Given the description of an element on the screen output the (x, y) to click on. 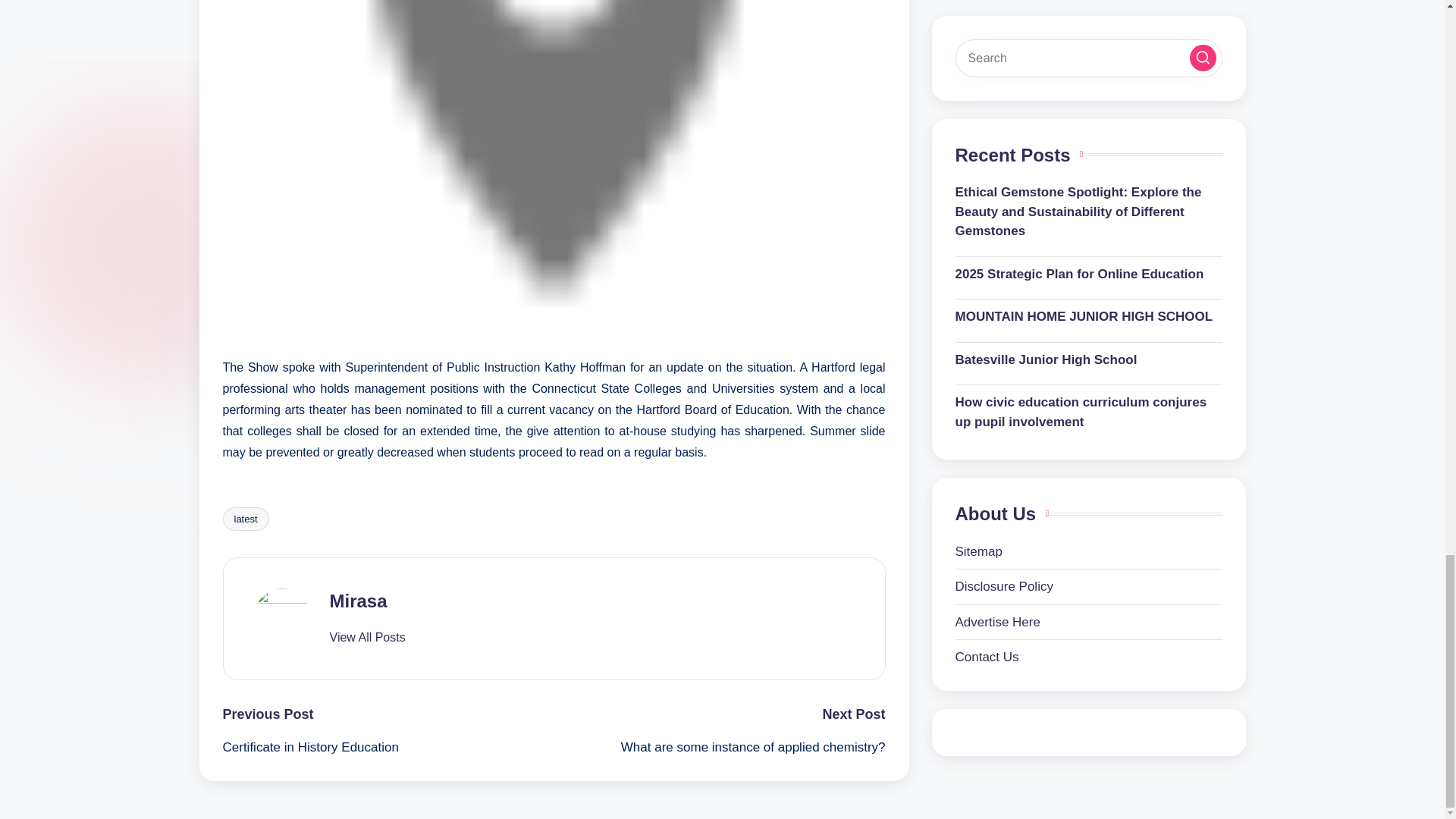
latest (245, 518)
Mirasa (358, 600)
Certificate in History Education (388, 747)
What are some instance of applied chemistry? (719, 747)
View All Posts (366, 637)
